Given the description of an element on the screen output the (x, y) to click on. 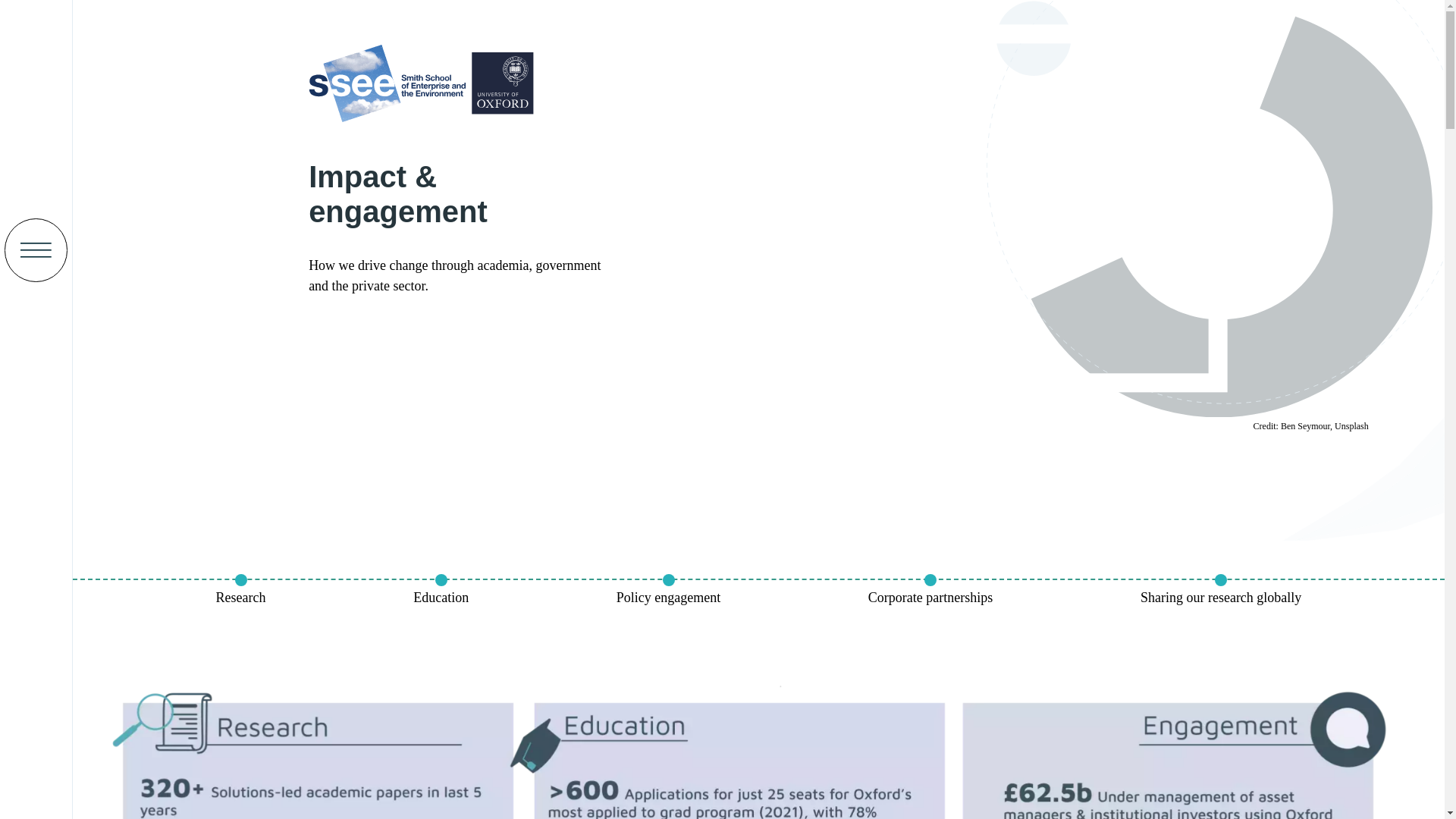
Education (441, 597)
Menu expand link (36, 249)
Research (240, 597)
Corporate partnerships (930, 597)
Policy engagement (668, 597)
